Given the description of an element on the screen output the (x, y) to click on. 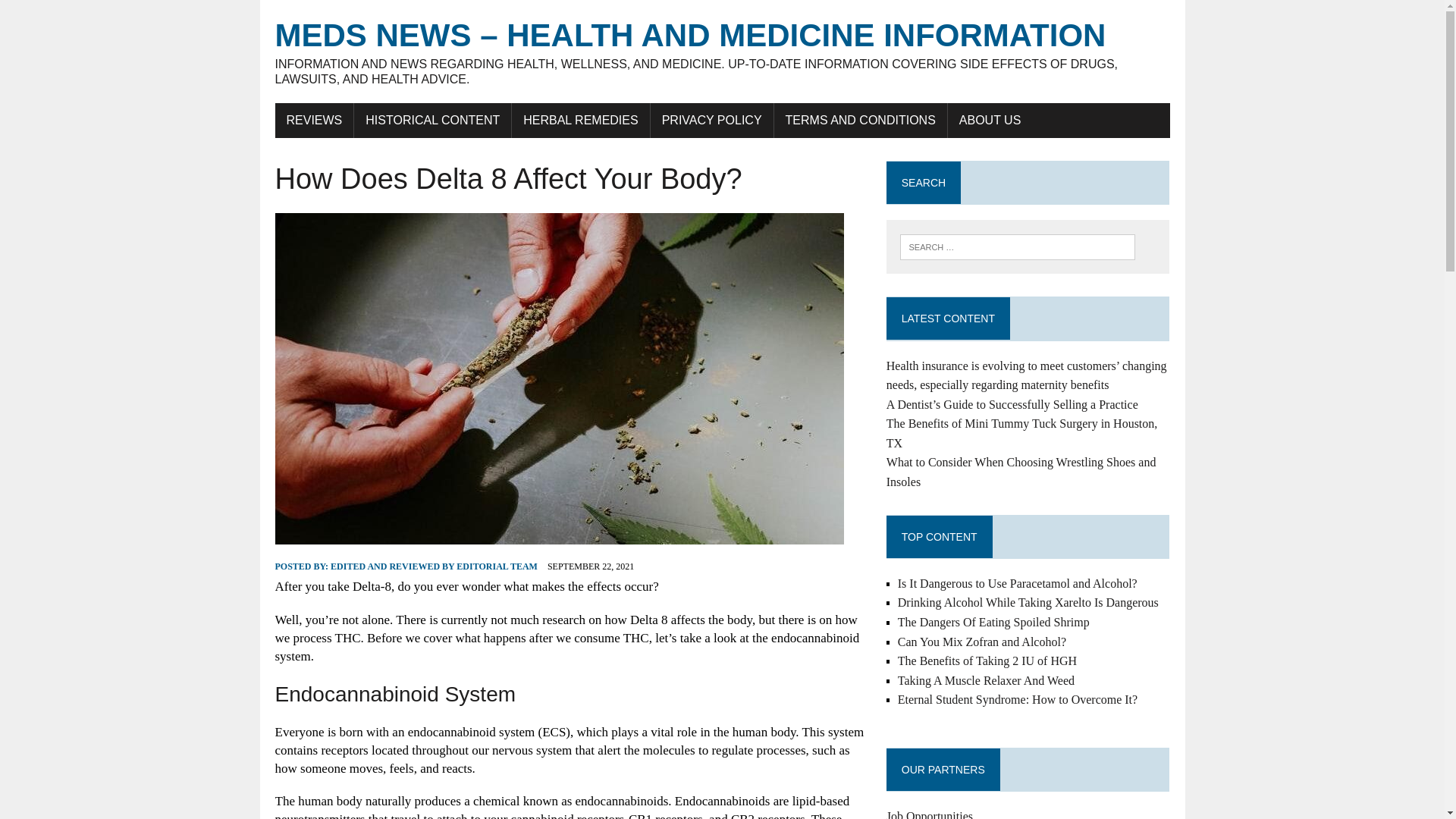
The Benefits of Taking 2 IU of HGH (987, 660)
ABOUT US (989, 120)
Is It Dangerous to Use Paracetamol and Alcohol? (1017, 583)
REVIEWS (314, 120)
EDITED AND REVIEWED BY EDITORIAL TEAM (433, 566)
HISTORICAL CONTENT (432, 120)
TERMS AND CONDITIONS (860, 120)
Can You Mix Zofran and Alcohol? (981, 641)
Search (75, 14)
Job Opportunities (929, 814)
